Given the description of an element on the screen output the (x, y) to click on. 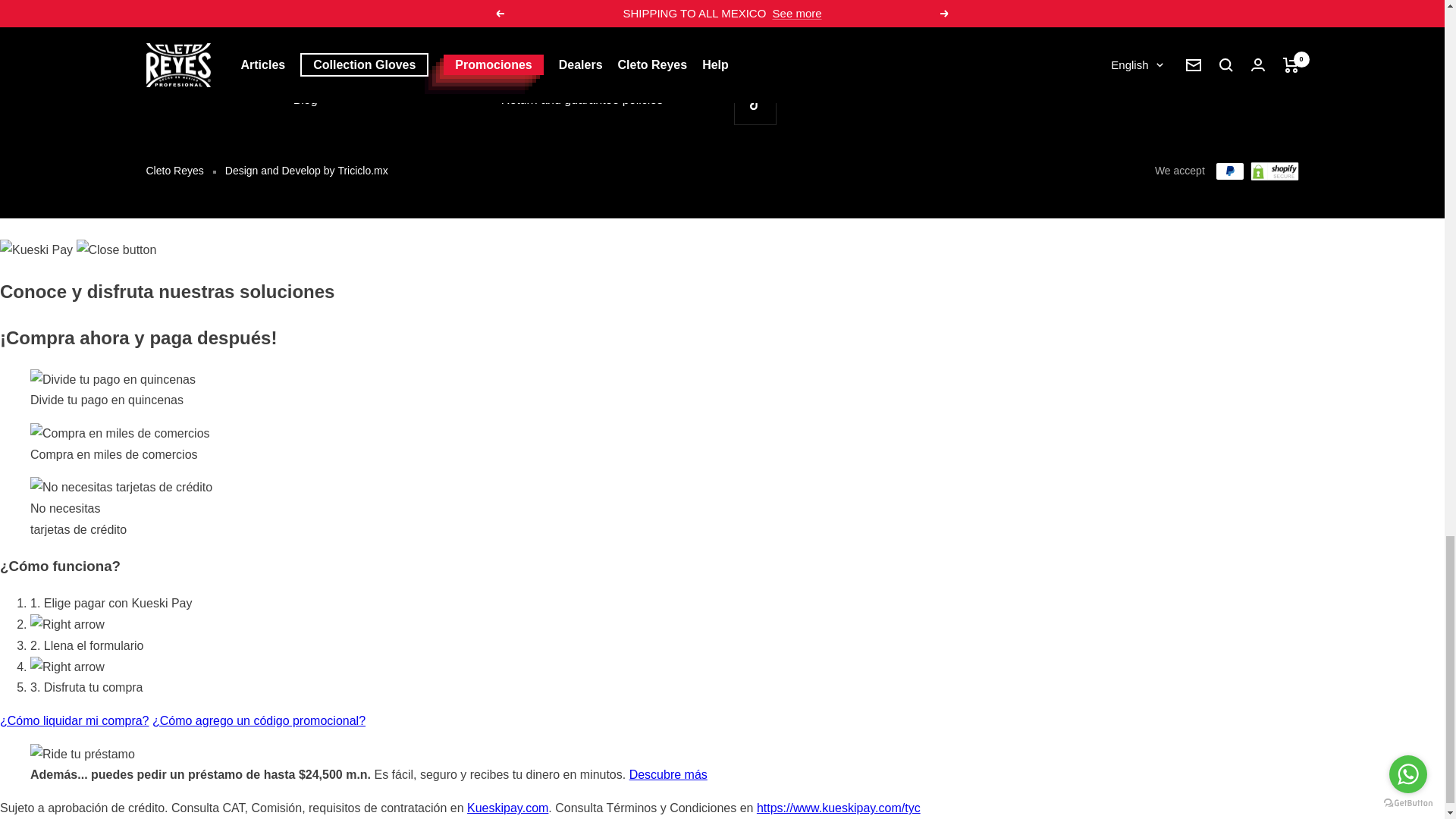
Collection Policy (544, 47)
About (309, 4)
Museum (316, 47)
Terms and Conditions (559, 4)
Return and guarantee policies (581, 99)
Authorizations (331, 22)
Catalogue (321, 74)
Shipping policy (541, 74)
Blog (305, 99)
Send (1275, 82)
